Given the description of an element on the screen output the (x, y) to click on. 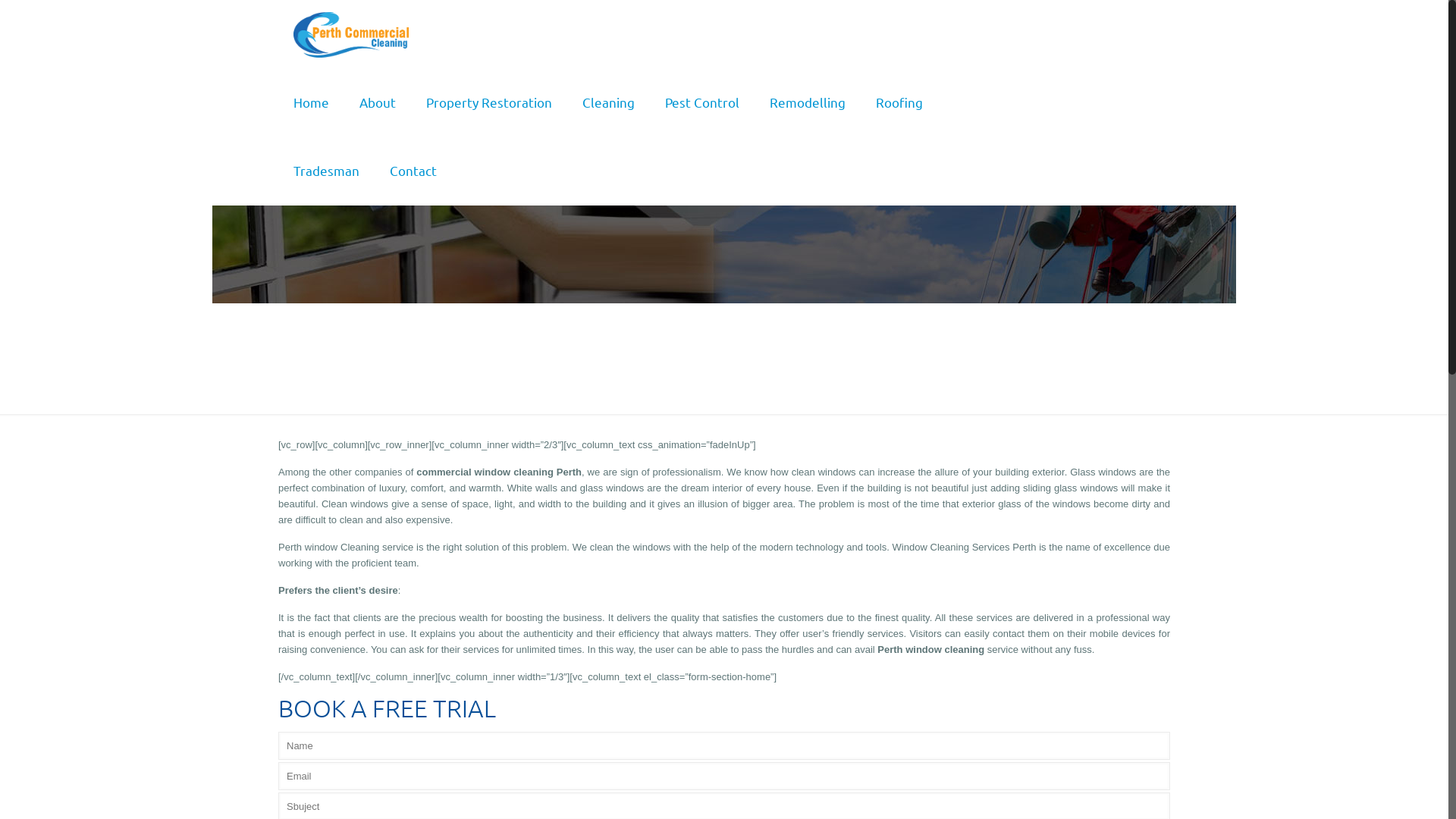
Pest Control Element type: text (701, 102)
Contact Element type: text (412, 170)
Home Element type: text (311, 102)
Remodelling Element type: text (807, 102)
Roofing Element type: text (899, 102)
Perth Commercial Cleaning Element type: hover (350, 34)
About Element type: text (377, 102)
Property Restoration Element type: text (489, 102)
Tradesman Element type: text (326, 170)
Cleaning Element type: text (608, 102)
